Given the description of an element on the screen output the (x, y) to click on. 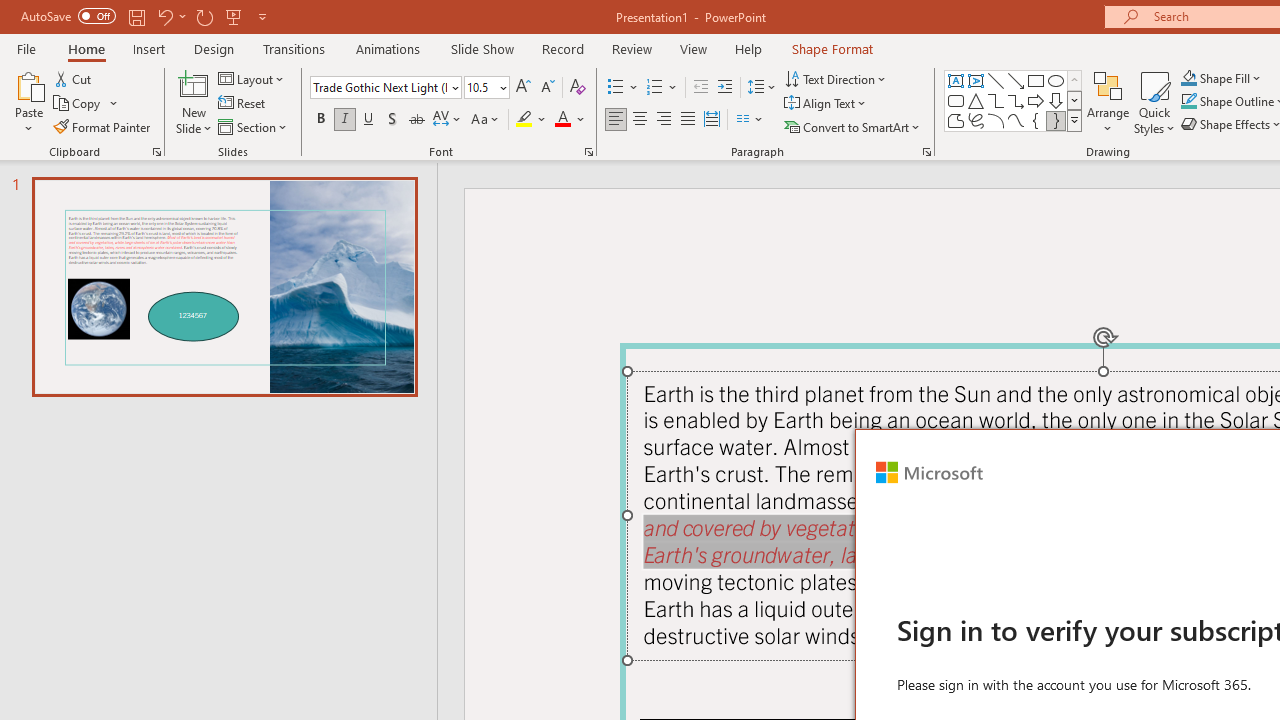
Shape Outline Teal, Accent 1 (1188, 101)
